Given the description of an element on the screen output the (x, y) to click on. 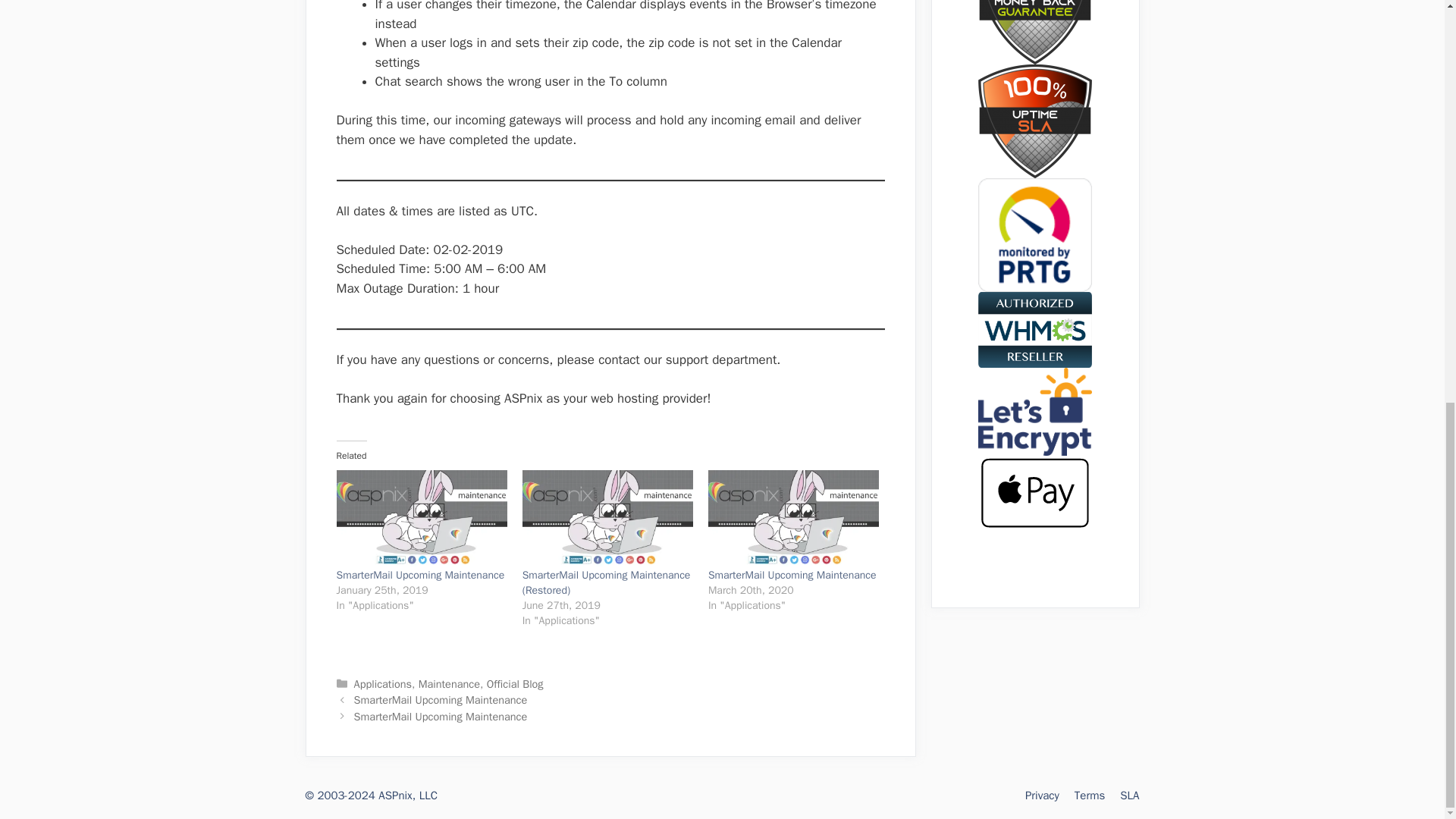
Applications (382, 684)
Official Blog (514, 684)
SmarterMail Upcoming Maintenance (440, 699)
Maintenance (449, 684)
SmarterMail Upcoming Maintenance (440, 716)
SmarterMail Upcoming Maintenance (791, 574)
SmarterMail Upcoming Maintenance (420, 574)
